Given the description of an element on the screen output the (x, y) to click on. 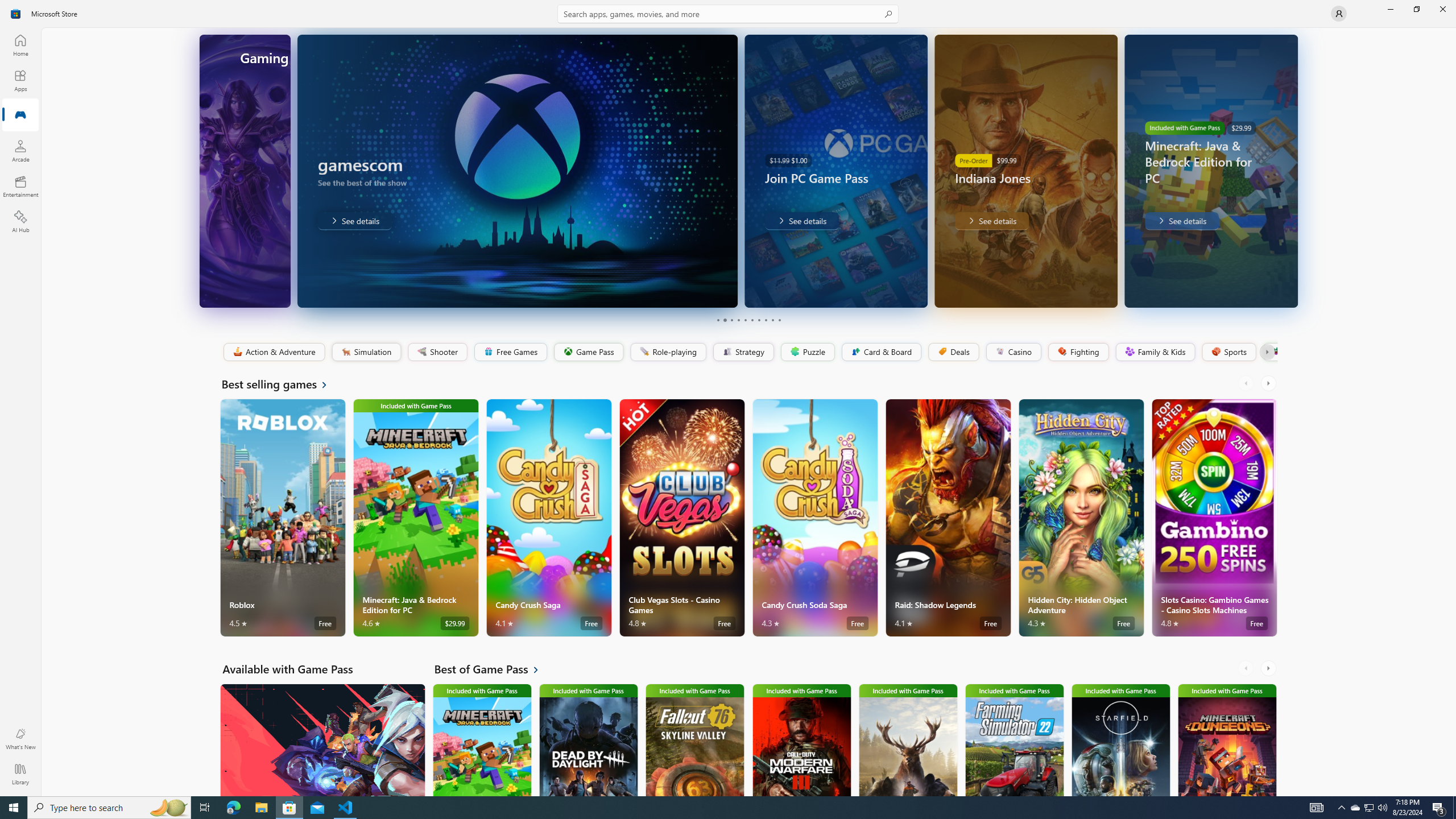
Shooter (436, 352)
Page 8 (764, 319)
Casino (1013, 352)
Page 5 (744, 319)
What's New (20, 738)
Page 1 (717, 319)
Simulation (365, 352)
Deals (952, 352)
User profile (1338, 13)
Page 6 (751, 319)
See all  Best selling games (280, 383)
Roblox. Average rating of 4.5 out of five stars. Free   (282, 517)
